Given the description of an element on the screen output the (x, y) to click on. 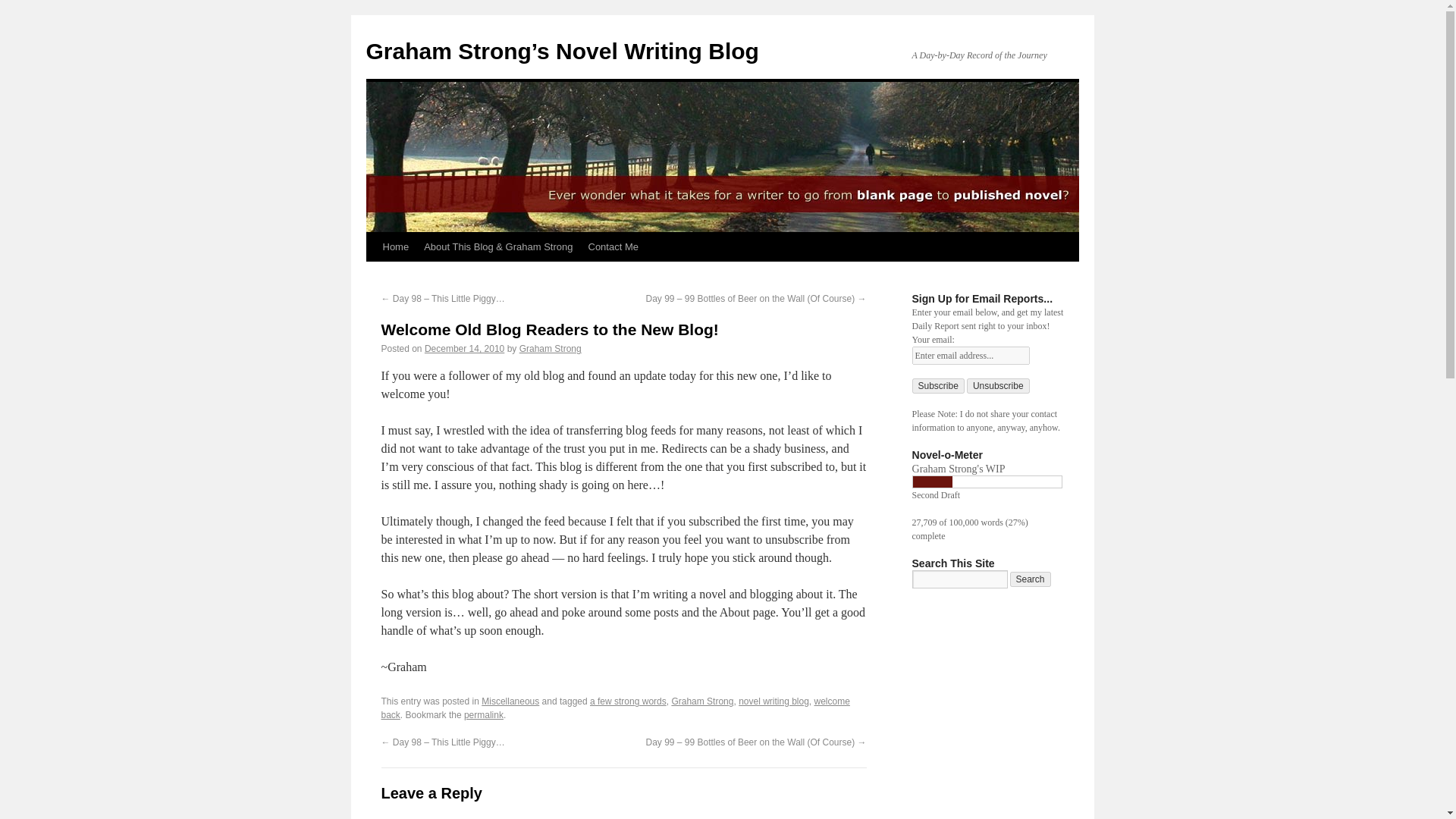
Graham Strong (702, 701)
Search (1030, 579)
Miscellaneous (509, 701)
Home (395, 246)
Permalink to Welcome Old Blog Readers to the New Blog! (483, 715)
December 14, 2010 (464, 348)
Graham Strong (549, 348)
Subscribe (937, 385)
Subscribe (937, 385)
Unsubscribe (997, 385)
Enter email address... (970, 355)
Unsubscribe (997, 385)
permalink (483, 715)
Search (1030, 579)
welcome back (614, 708)
